Given the description of an element on the screen output the (x, y) to click on. 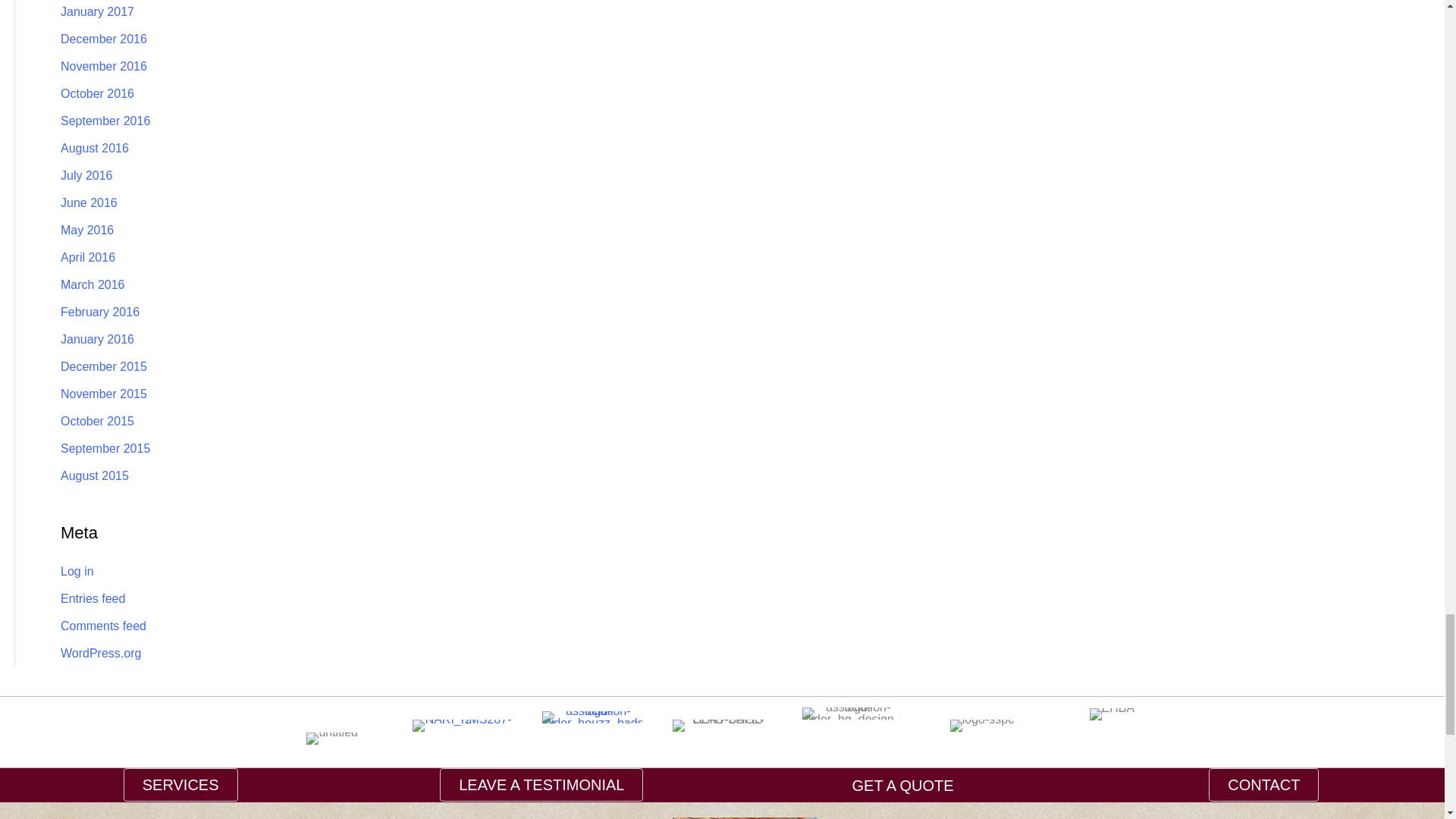
untitled (331, 738)
logo-sspc (981, 725)
LEAD-SAFE-CERT-LOGO (721, 725)
